Given the description of an element on the screen output the (x, y) to click on. 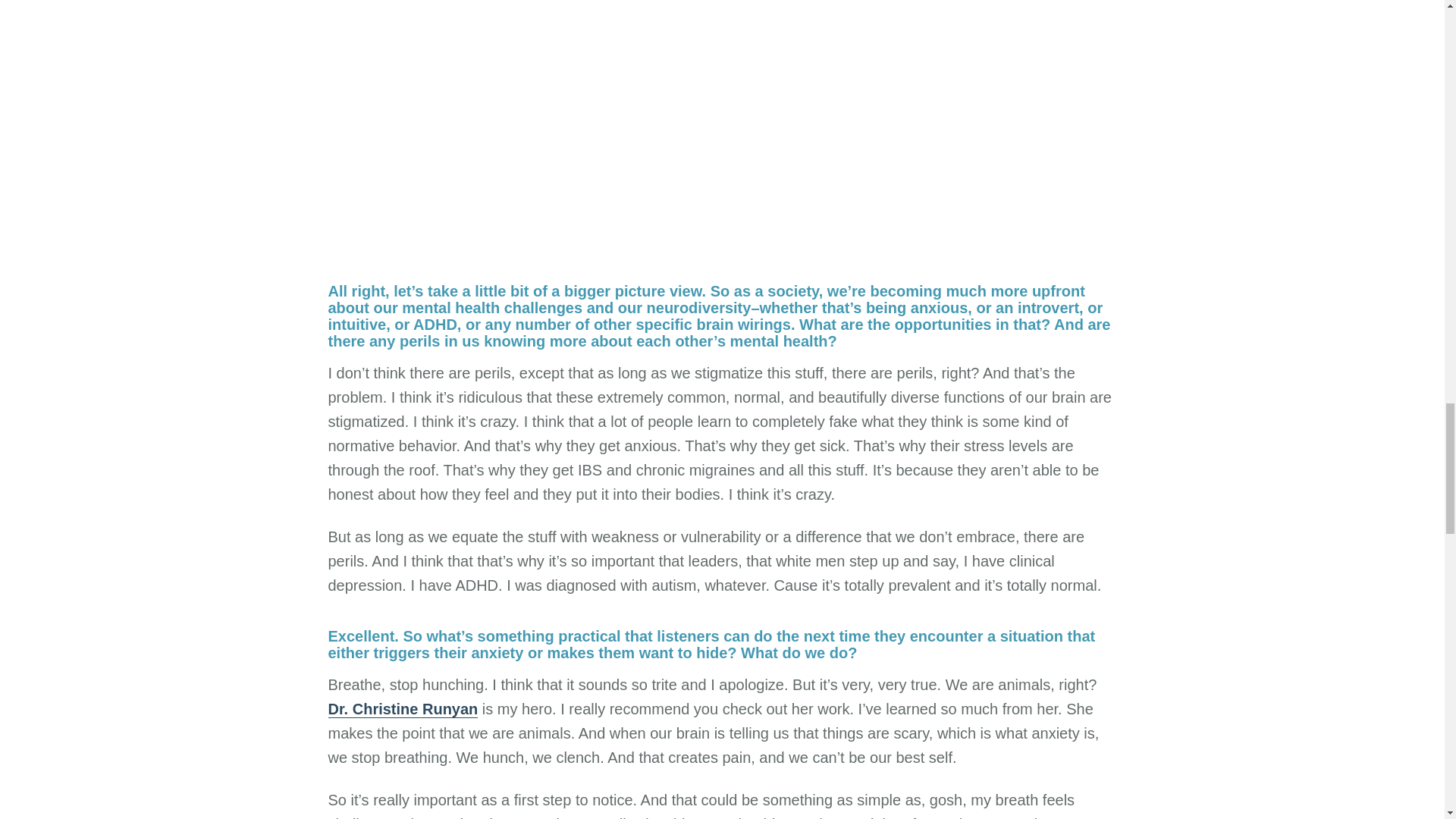
Dr. Christine Runyan (402, 709)
